Given the description of an element on the screen output the (x, y) to click on. 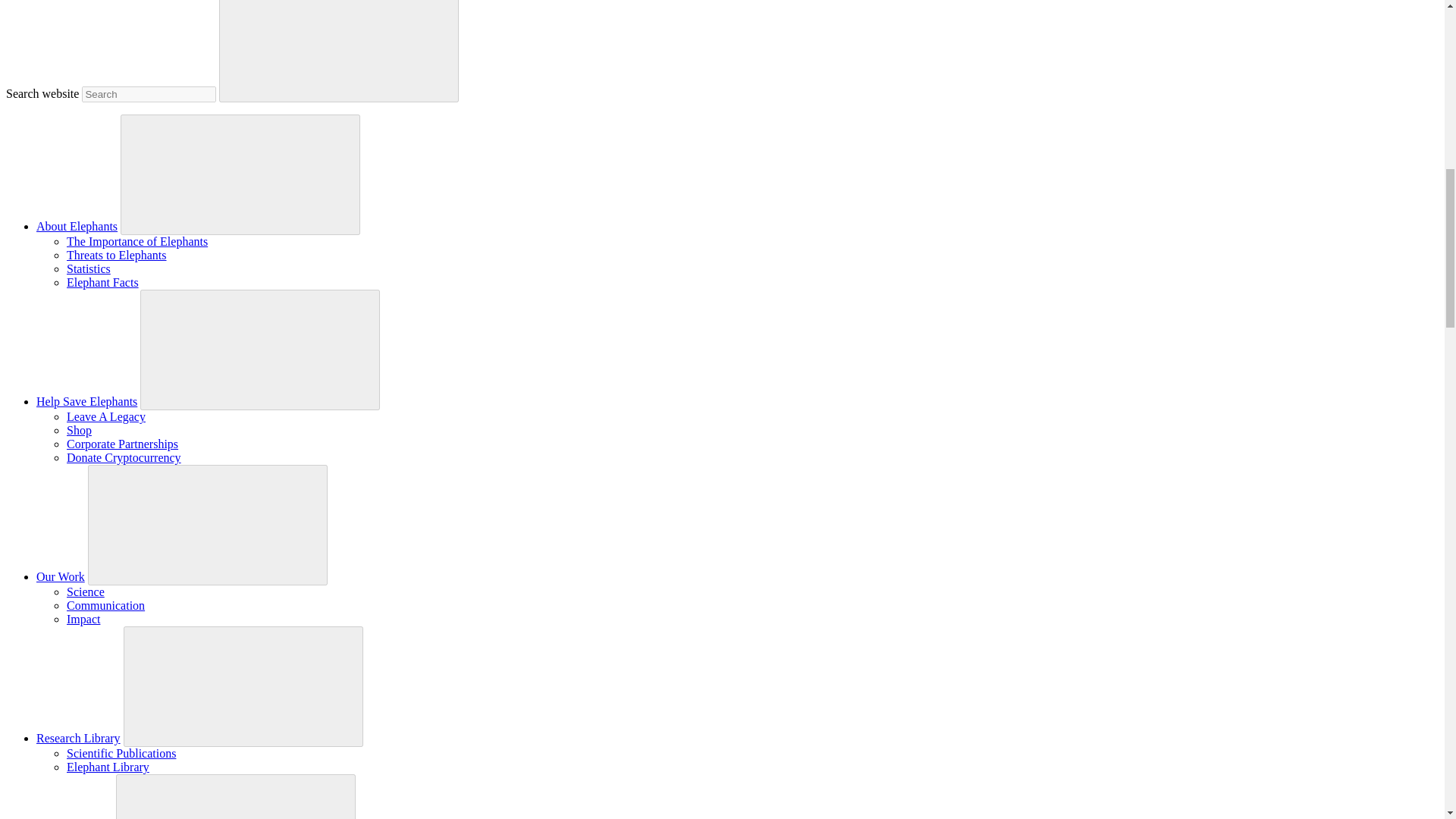
Expand dropdown (242, 685)
Expand dropdown (260, 348)
Expand dropdown (235, 797)
Search submit (338, 51)
Expand dropdown (239, 173)
Expand dropdown (207, 523)
